Given the description of an element on the screen output the (x, y) to click on. 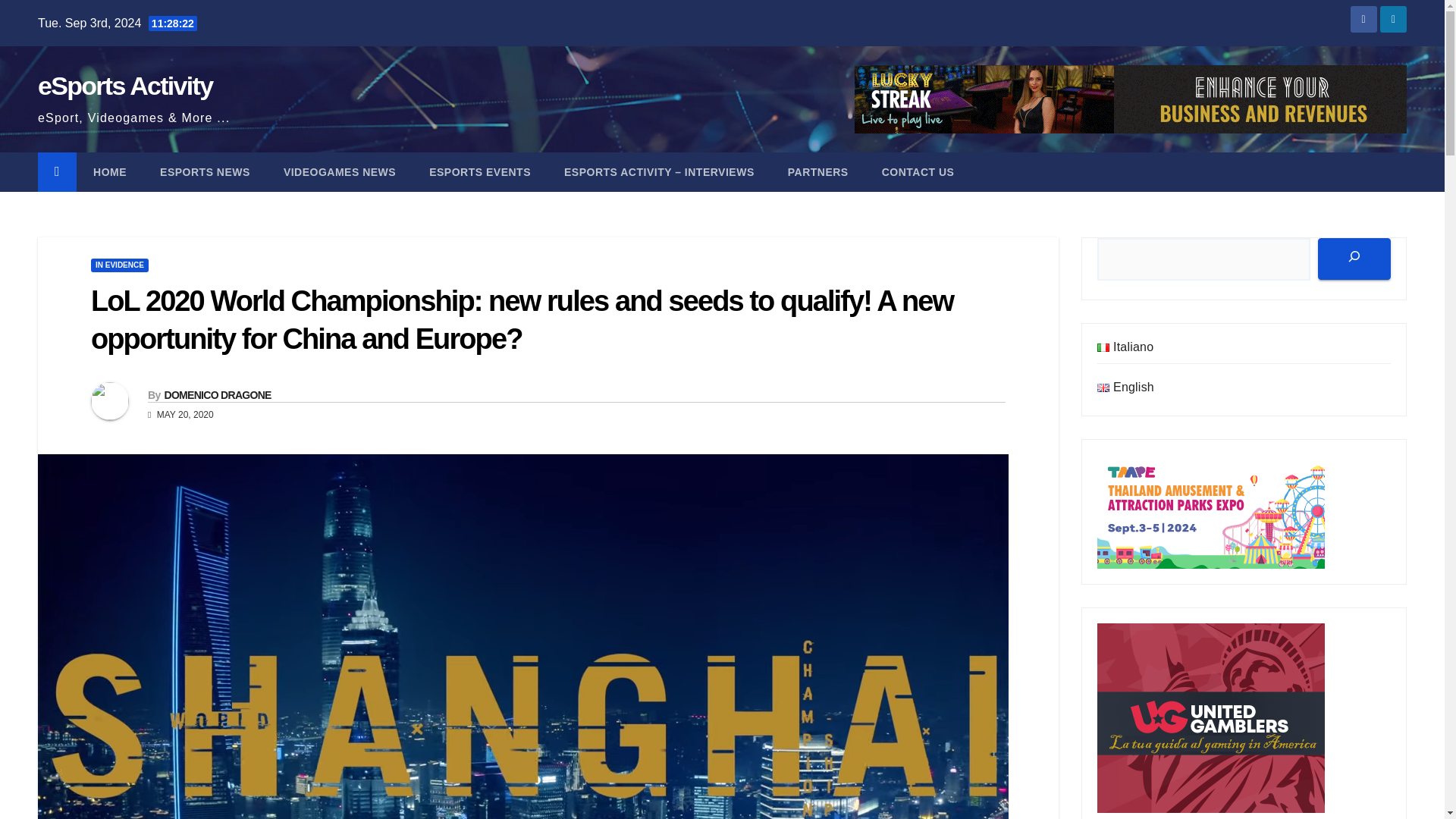
Contact Us (917, 171)
VIDEOGAMES NEWS (339, 171)
eSports Events (479, 171)
Partners (817, 171)
ESPORTS NEWS (204, 171)
ESPORTS EVENTS (479, 171)
Videogames News (339, 171)
CONTACT US (917, 171)
eSports News (204, 171)
